Given the description of an element on the screen output the (x, y) to click on. 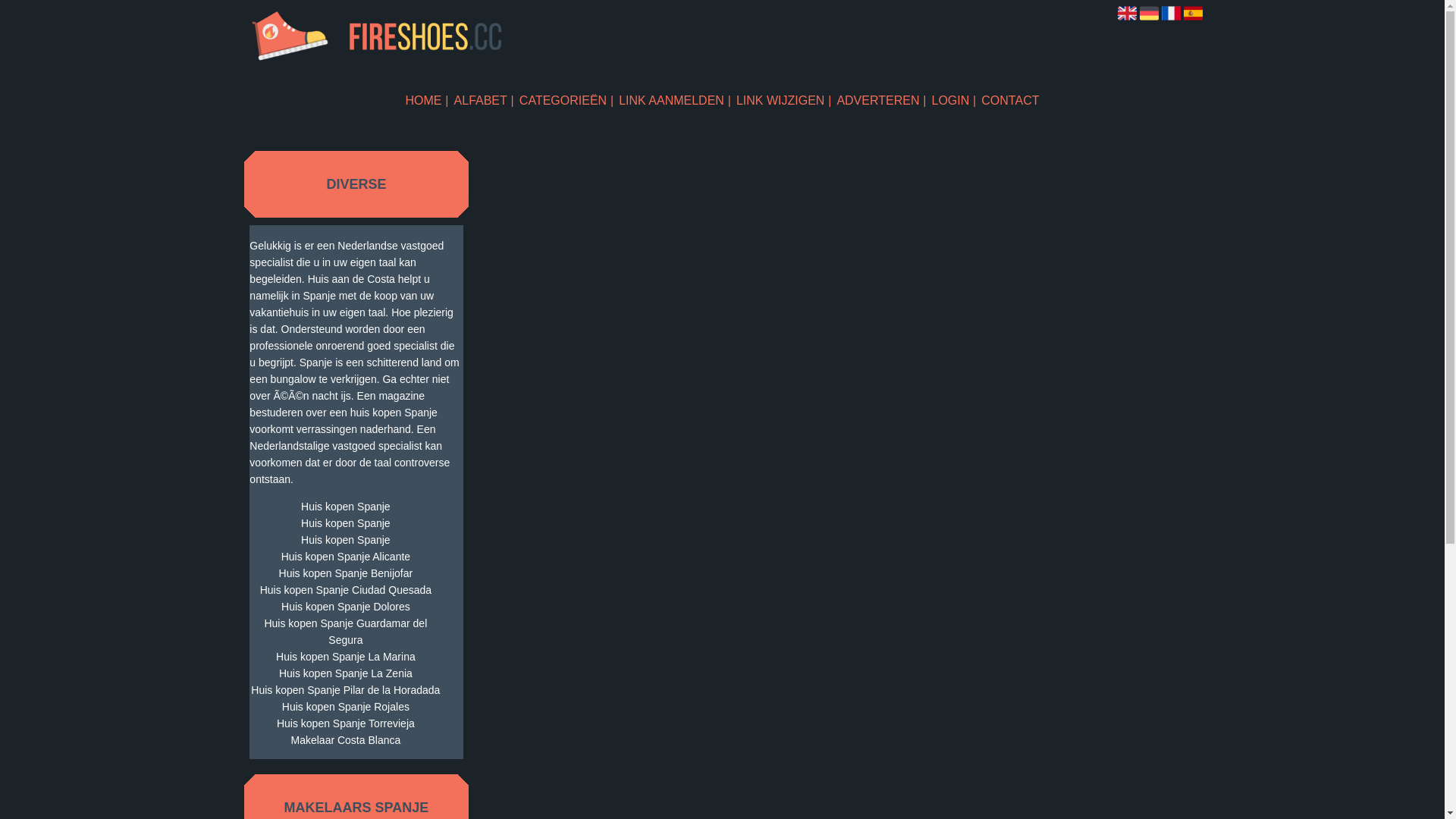
ALFABET Element type: text (484, 100)
Huis kopen Spanje Element type: text (345, 522)
LOGIN Element type: text (953, 100)
HOME Element type: text (426, 100)
Huis kopen Spanje La Zenia Element type: text (345, 673)
Huis kopen Spanje Ciudad Quesada Element type: text (345, 589)
ADVERTEREN Element type: text (880, 100)
Huis kopen Spanje Alicante Element type: text (345, 556)
Huis kopen Spanje Element type: text (345, 539)
LINK AANMELDEN Element type: text (674, 100)
Makelaar Costa Blanca Element type: text (345, 739)
LINK WIJZIGEN Element type: text (783, 100)
CONTACT Element type: text (1009, 100)
Huis kopen Spanje Torrevieja Element type: text (345, 723)
Huis kopen Spanje Element type: text (345, 506)
Huis kopen Spanje Guardamar del Segura Element type: text (345, 631)
Huis kopen Spanje Pilar de la Horadada Element type: text (345, 689)
Huis kopen Spanje La Marina Element type: text (345, 656)
Huis kopen Spanje Benijofar Element type: text (345, 572)
Huis kopen Spanje Rojales Element type: text (345, 706)
Huis kopen Spanje Dolores Element type: text (345, 606)
